Given the description of an element on the screen output the (x, y) to click on. 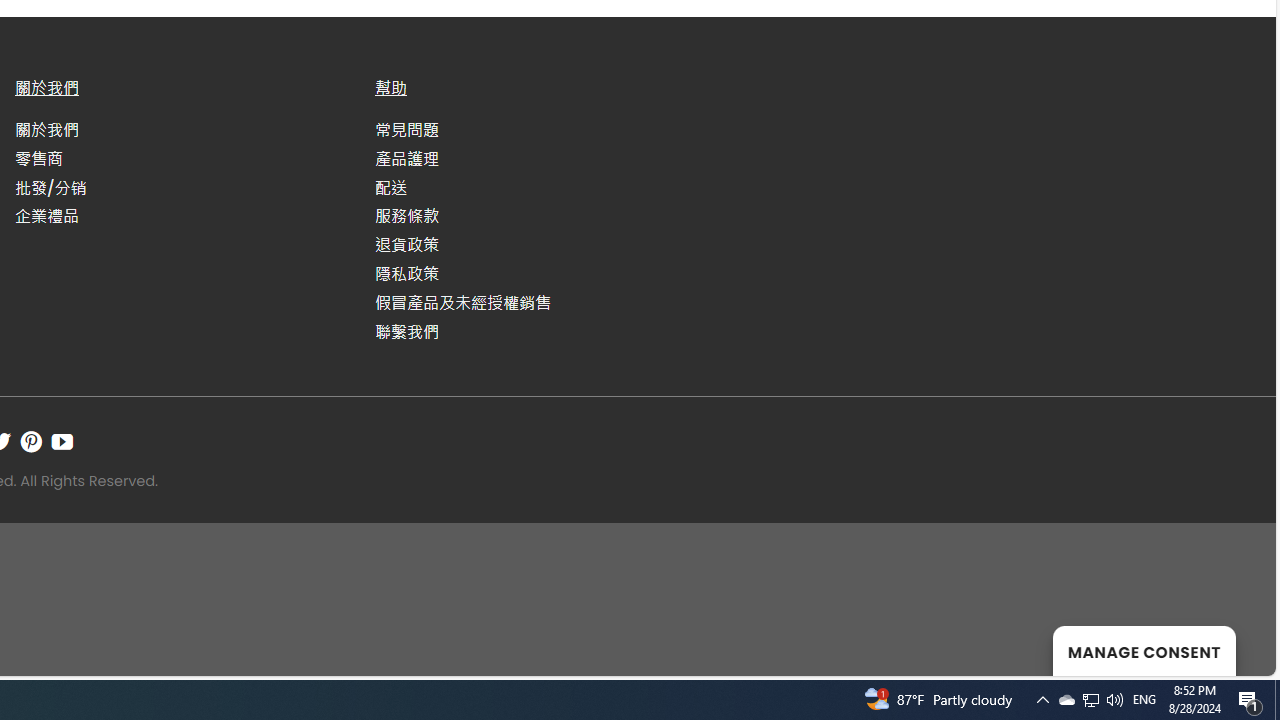
Follow on YouTube (61, 441)
Go to top (1234, 647)
Follow on Pinterest (31, 441)
